Given the description of an element on the screen output the (x, y) to click on. 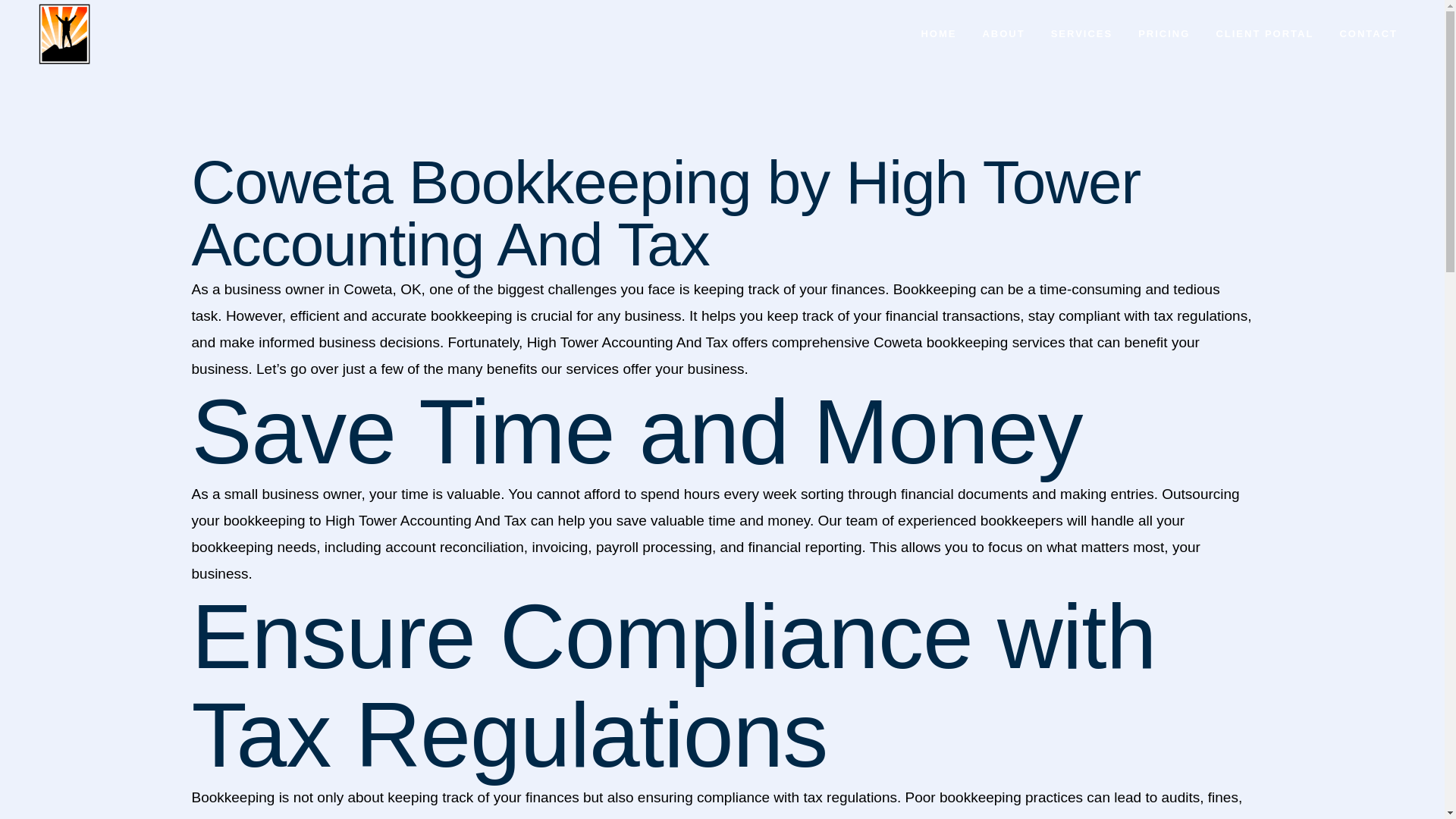
HOME (938, 33)
SERVICES (1081, 33)
PRICING (1163, 33)
Client Portal (283, 608)
Home (283, 501)
Google Profile (283, 680)
CLIENT PORTAL (1264, 33)
ABOUT (1002, 33)
About (283, 537)
CONTACT (1368, 33)
